Given the description of an element on the screen output the (x, y) to click on. 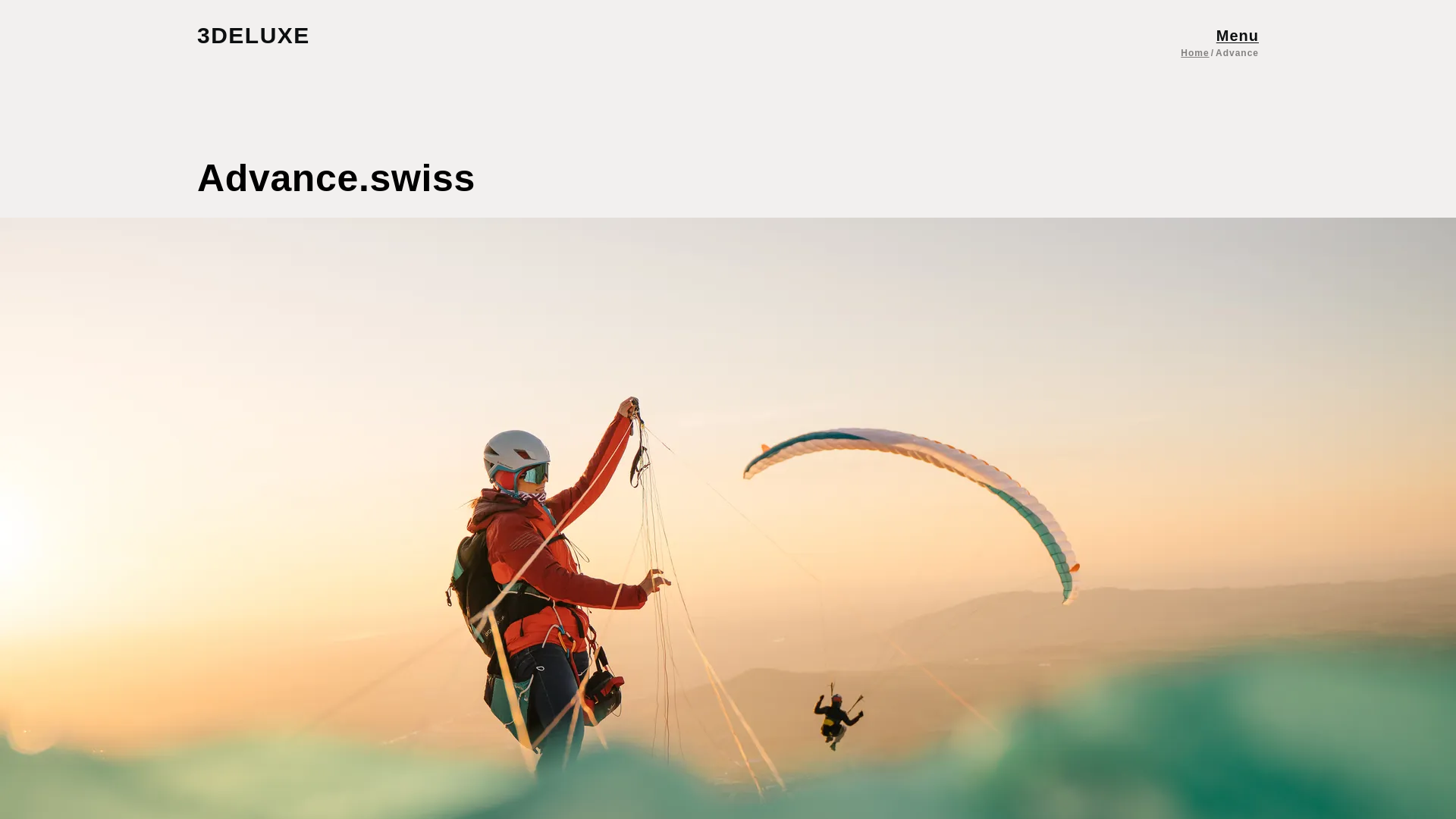
Menu (1237, 35)
3DELUXE (268, 35)
Home (1194, 52)
